Given the description of an element on the screen output the (x, y) to click on. 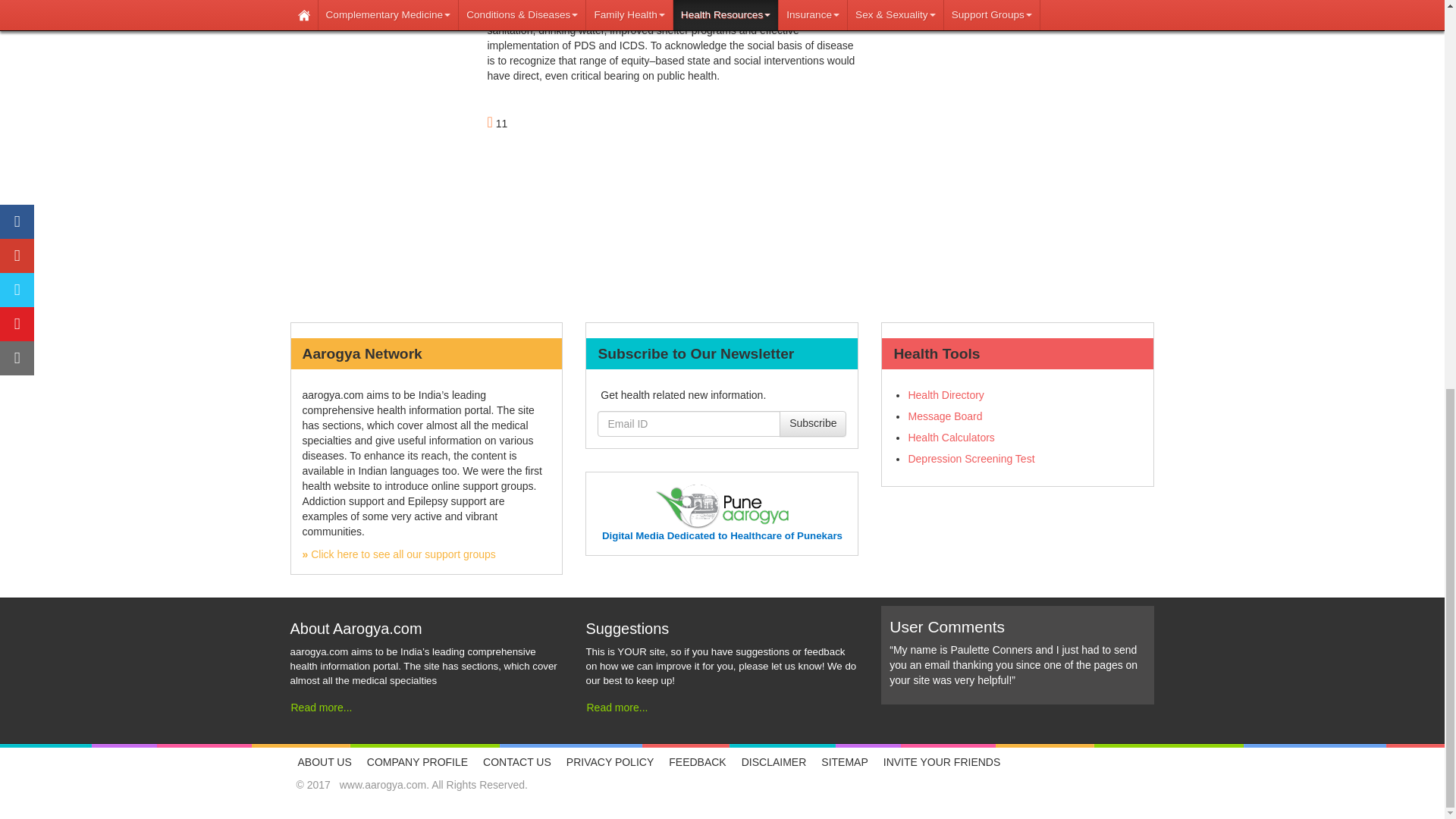
Pune Aarogya (722, 535)
Aarogya Network (398, 553)
Advertisement (1017, 88)
Pune Aarogya (722, 505)
